Given the description of an element on the screen output the (x, y) to click on. 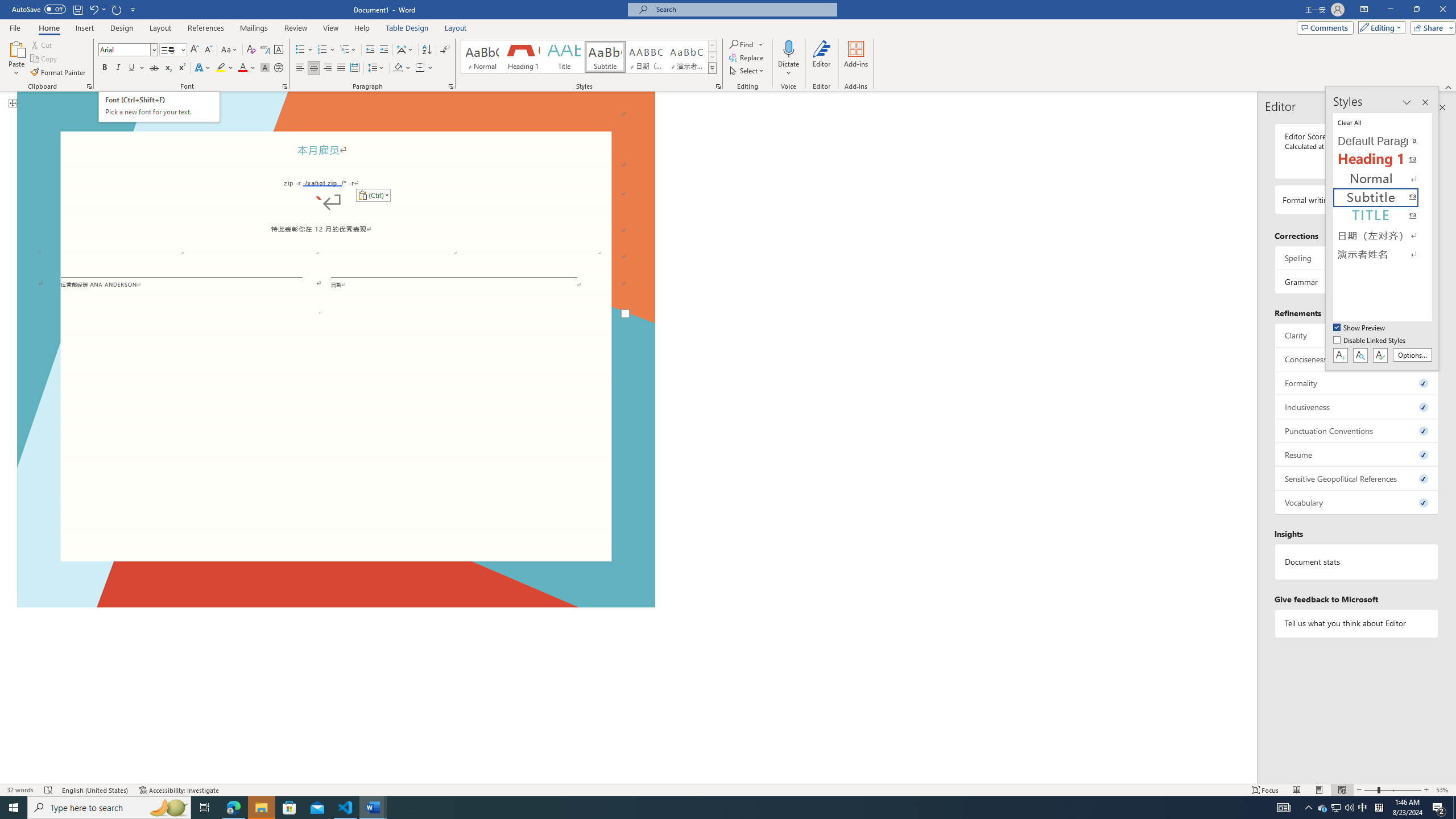
Grammar, 1 issue. Press space or enter to review items. (1356, 281)
